Given the description of an element on the screen output the (x, y) to click on. 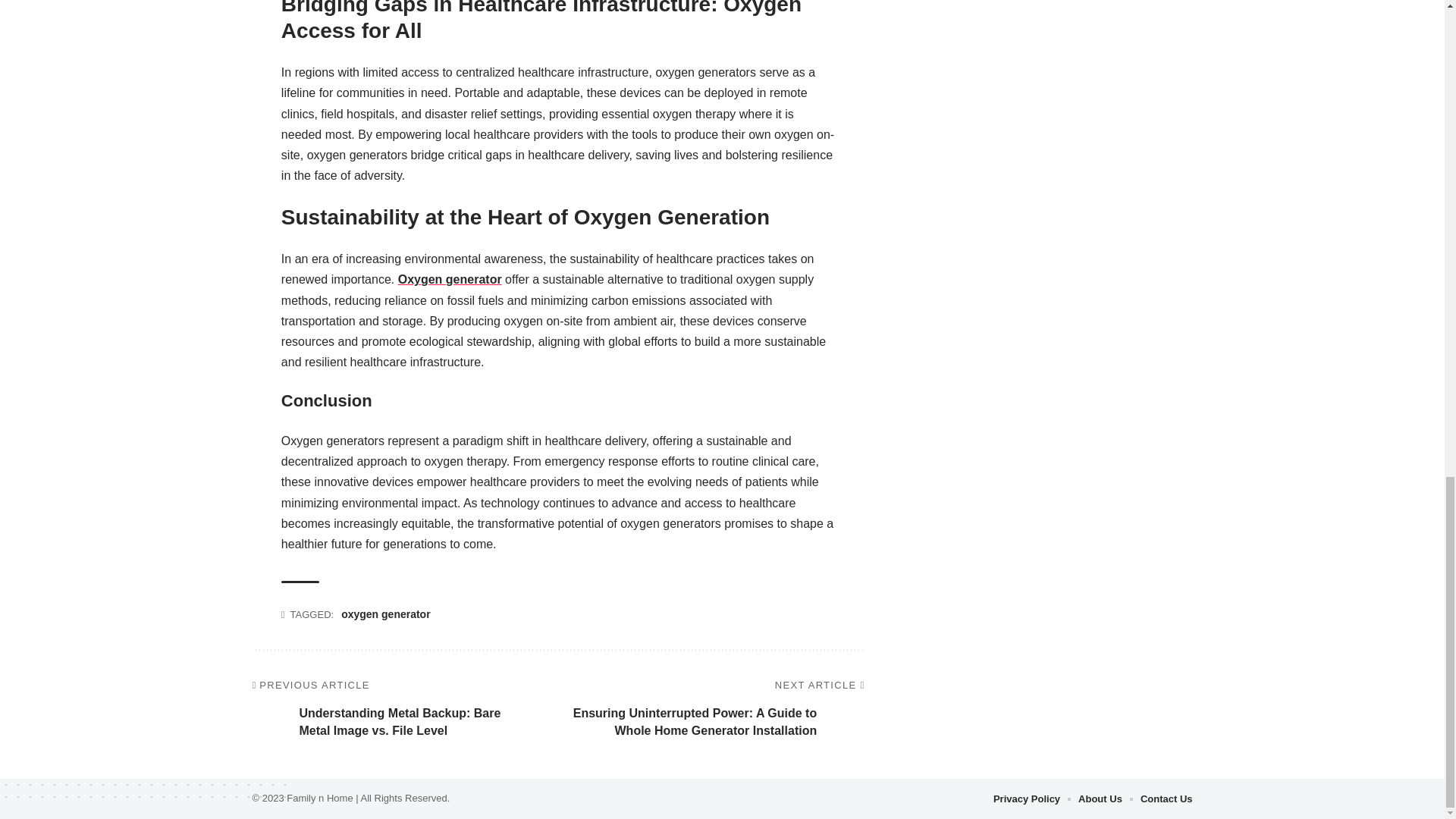
Contact Us (1166, 798)
Privacy Policy (1025, 798)
About Us (1100, 798)
Oxygen generator (449, 278)
oxygen generator (384, 613)
